Given the description of an element on the screen output the (x, y) to click on. 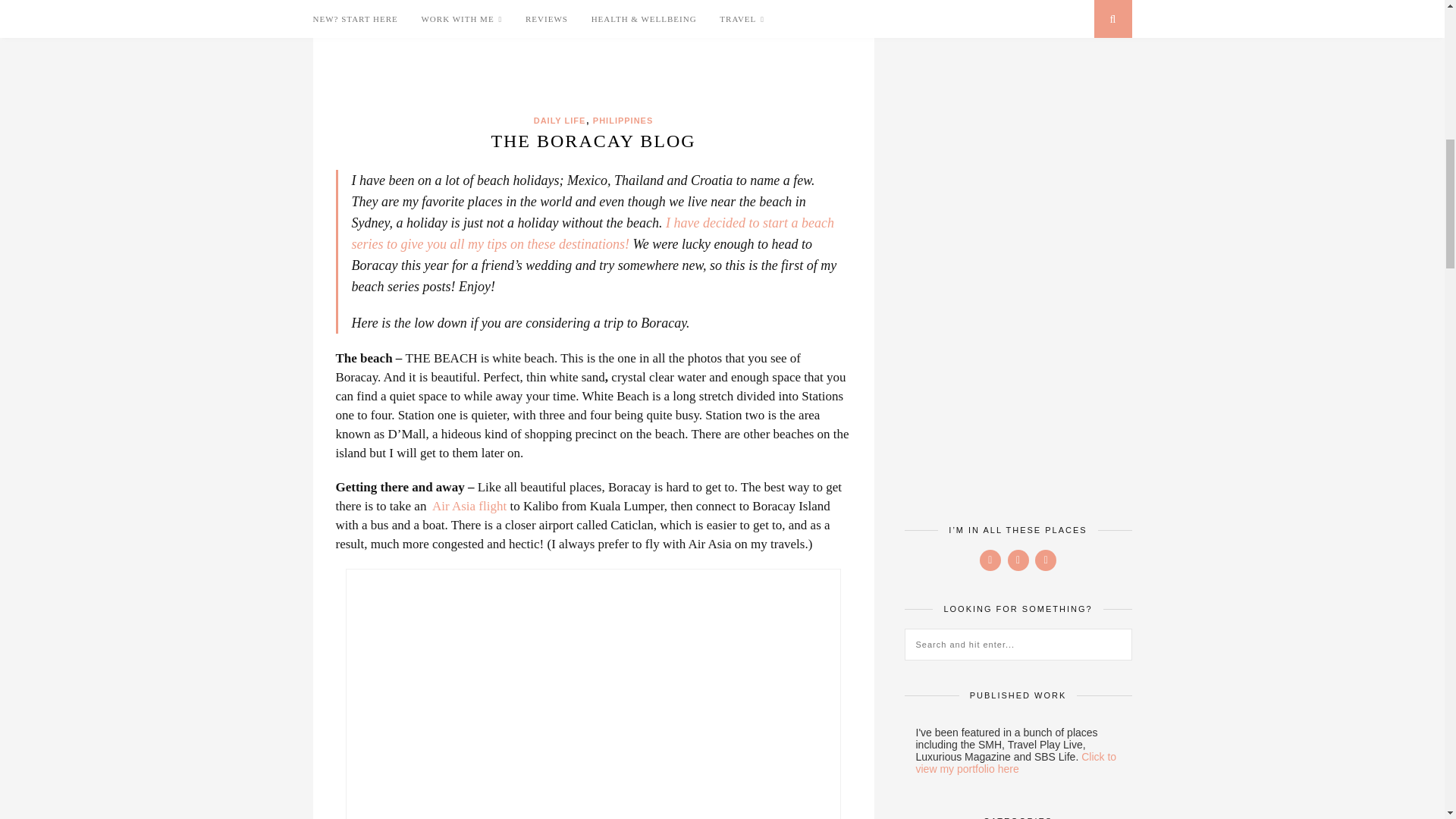
PHILIPPINES (622, 120)
 Air Asia flight (470, 505)
DAILY LIFE (560, 120)
